Given the description of an element on the screen output the (x, y) to click on. 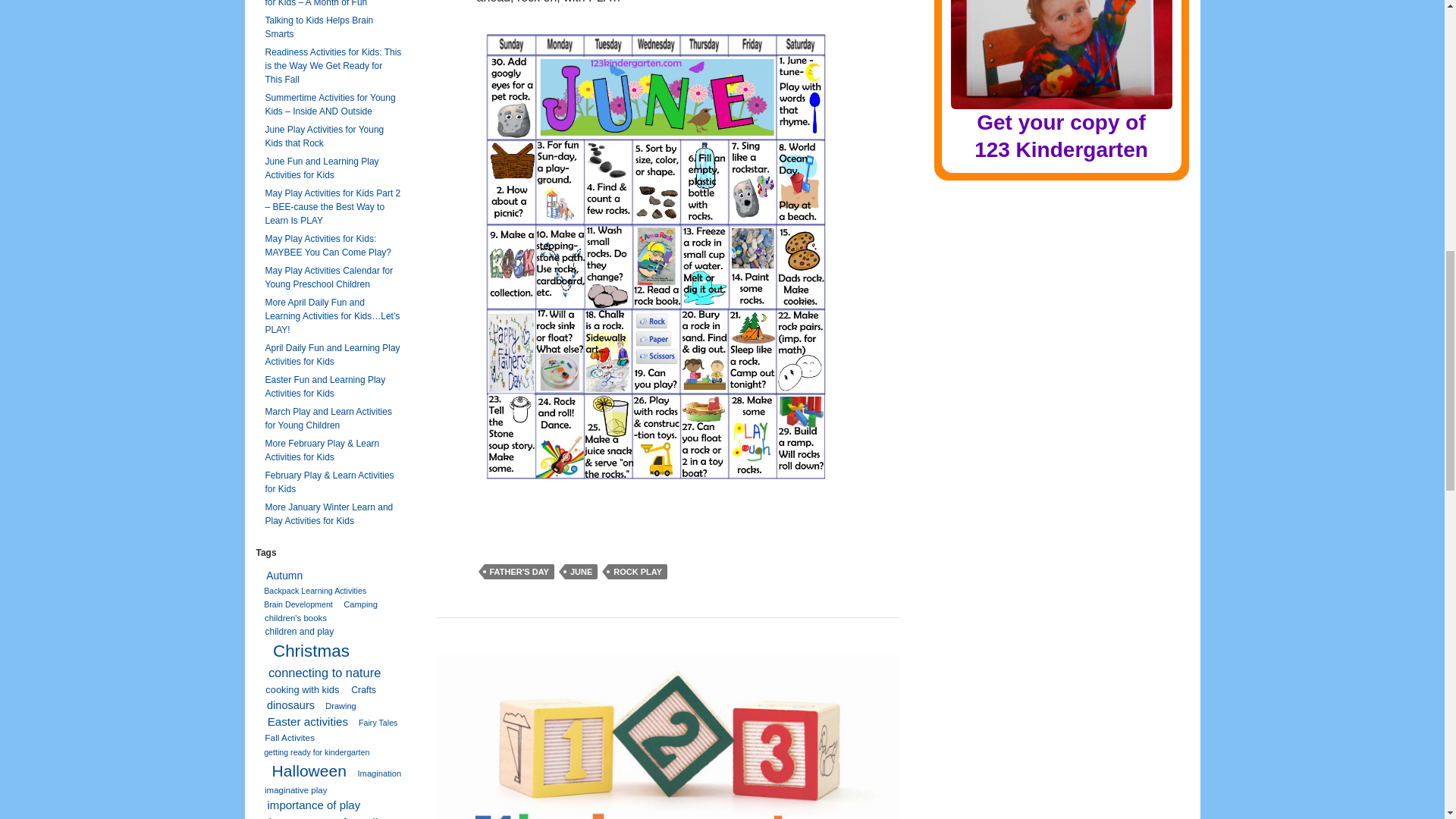
FATHER'S DAY (518, 571)
ROCK PLAY (637, 571)
JUNE (1061, 81)
